Given the description of an element on the screen output the (x, y) to click on. 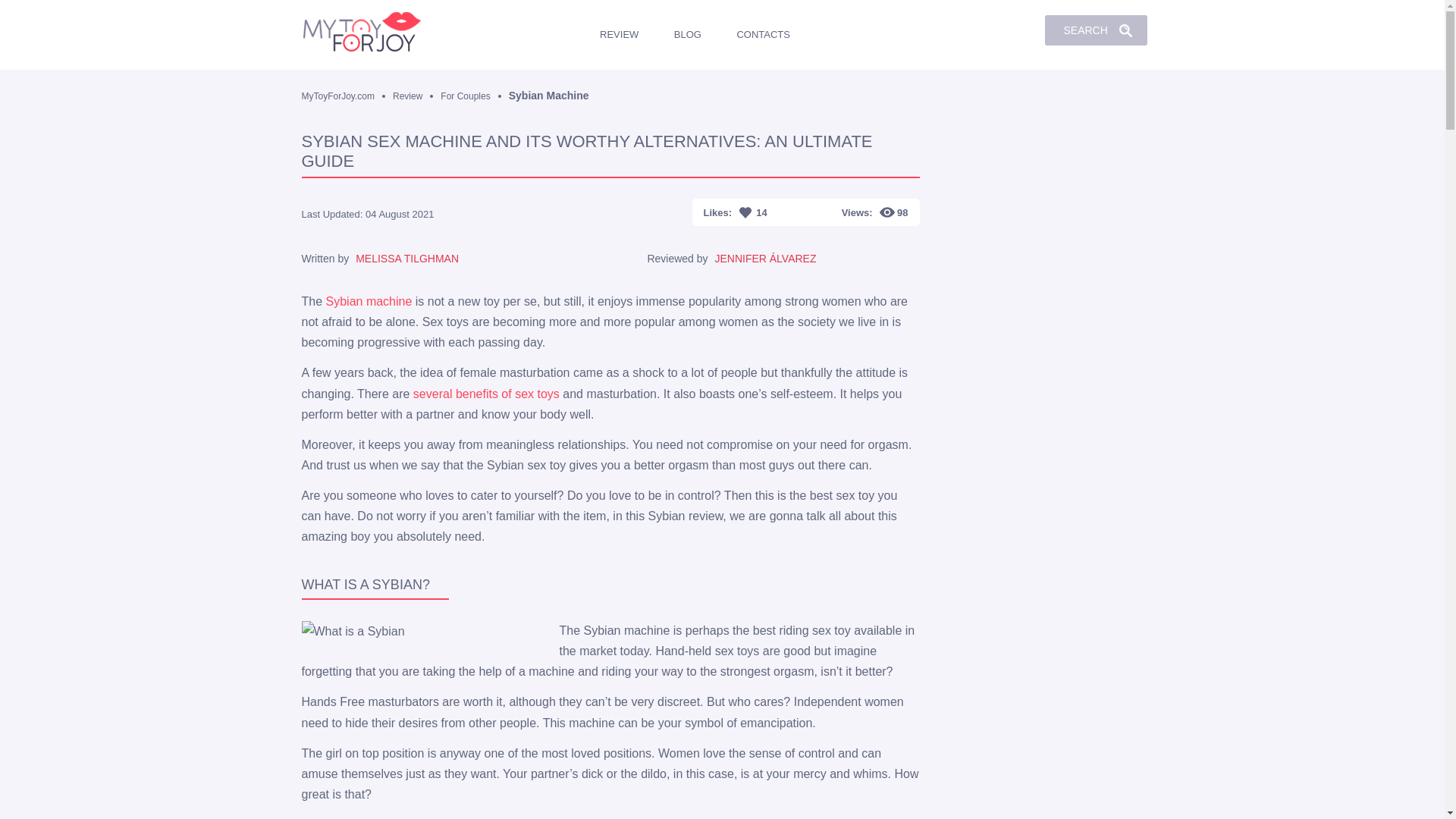
MyToyForJoy.com (365, 32)
several benefits of sex toys (486, 393)
For Couples (474, 96)
14 (753, 212)
MELISSA TILGHMAN (406, 258)
Review (417, 96)
MyToyForJoy.com (347, 96)
Review (417, 96)
CONTACTS (765, 34)
MyToyForJoy.com (347, 96)
REVIEW (621, 34)
BLOG (689, 34)
For Couples (474, 96)
